Given the description of an element on the screen output the (x, y) to click on. 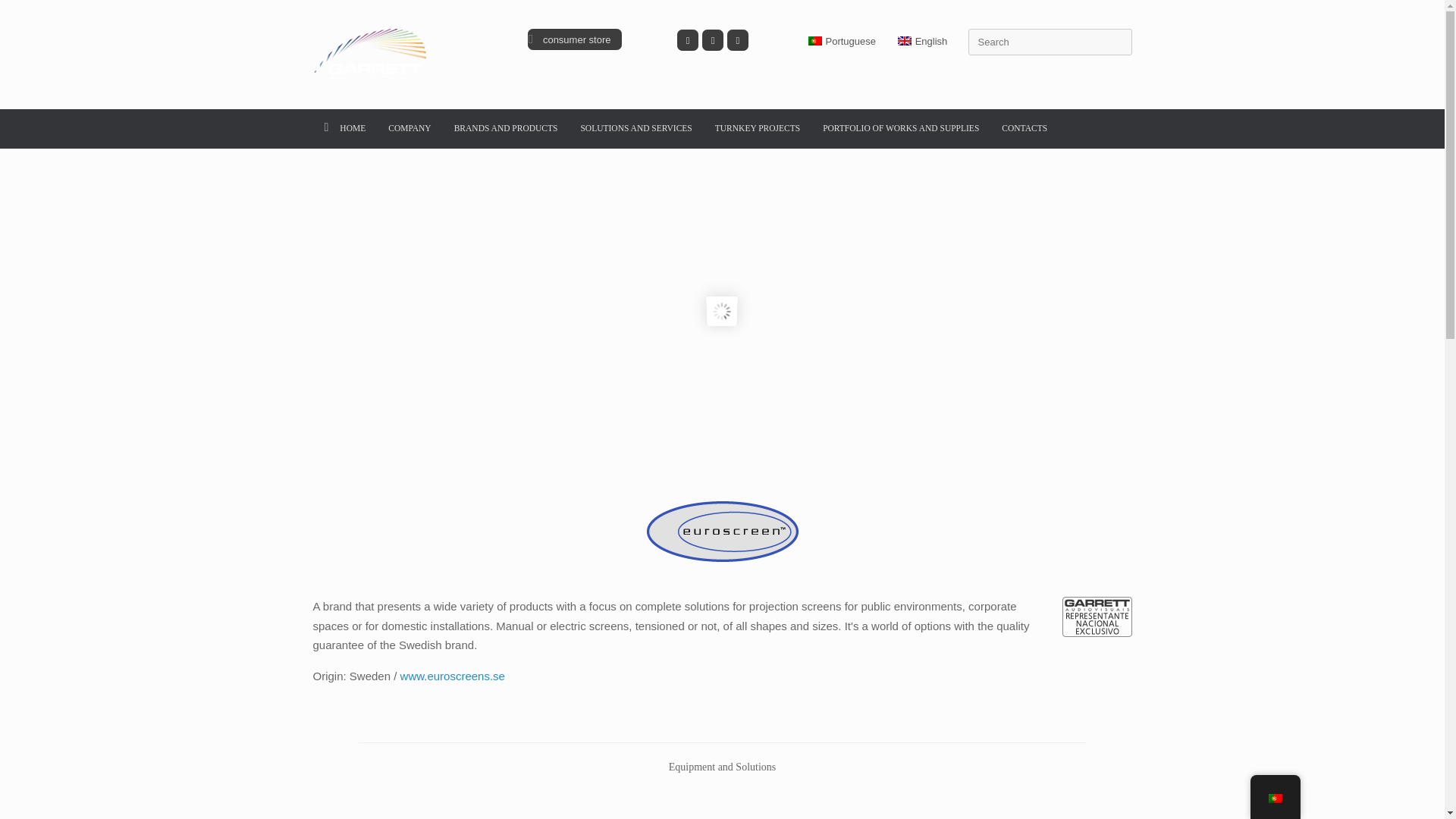
Garrett Audiovisuais on Facebook (687, 39)
www.euroscreens.se (452, 675)
PORTFOLIO OF WORKS AND SUPPLIES (900, 128)
English (904, 40)
COMPANY (409, 128)
Portuguese (815, 40)
HOME (345, 129)
English (920, 41)
consumer store (574, 38)
Garrett SA logo (377, 54)
Garrett Audiovisuais on Instagram (712, 39)
CONTACTS (1024, 128)
BRANDS AND PRODUCTS (505, 128)
TURNKEY PROJECTS (756, 128)
Portuguese (839, 41)
